Given the description of an element on the screen output the (x, y) to click on. 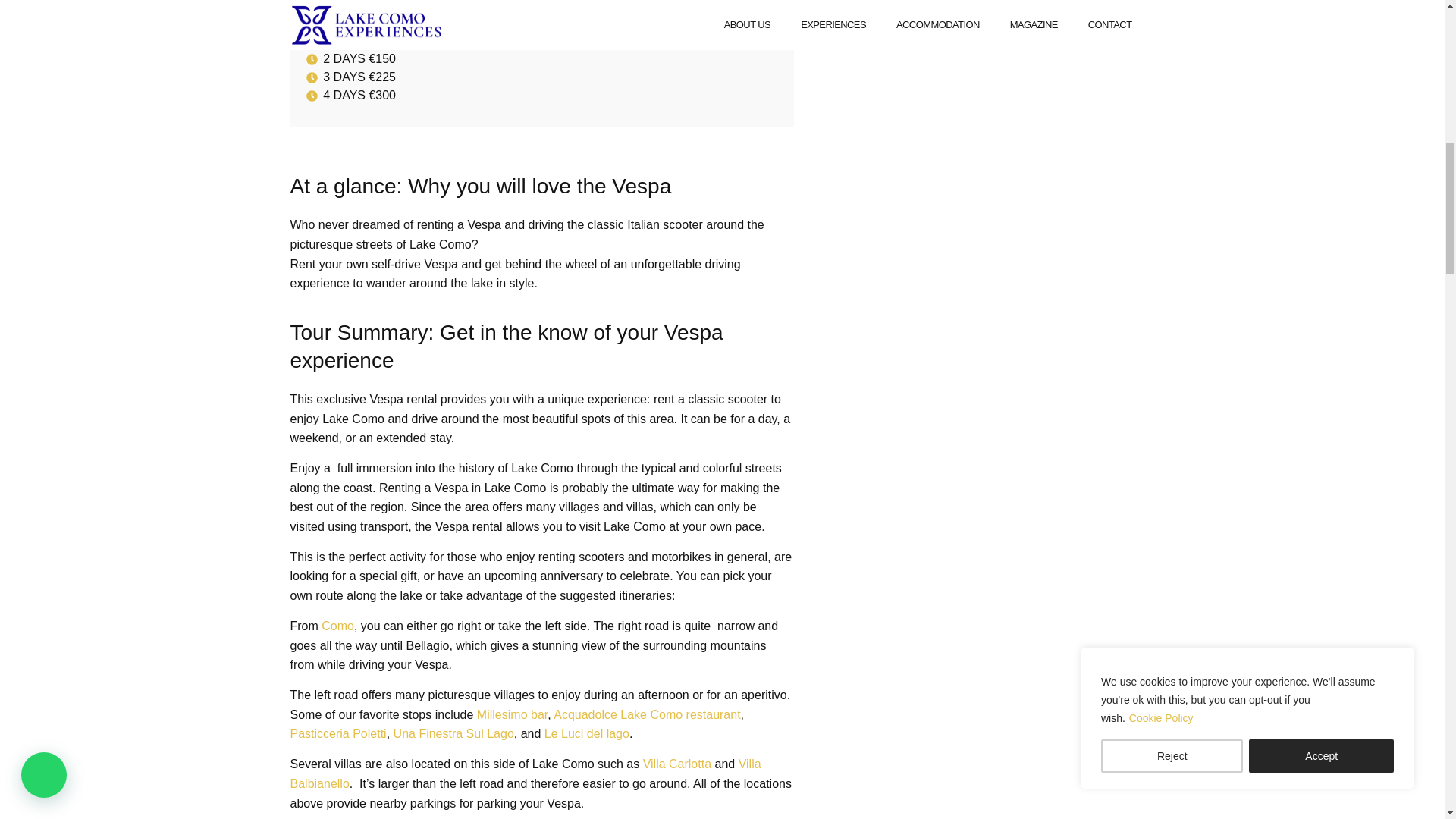
Como (335, 625)
Millesimo bar (510, 714)
